Given the description of an element on the screen output the (x, y) to click on. 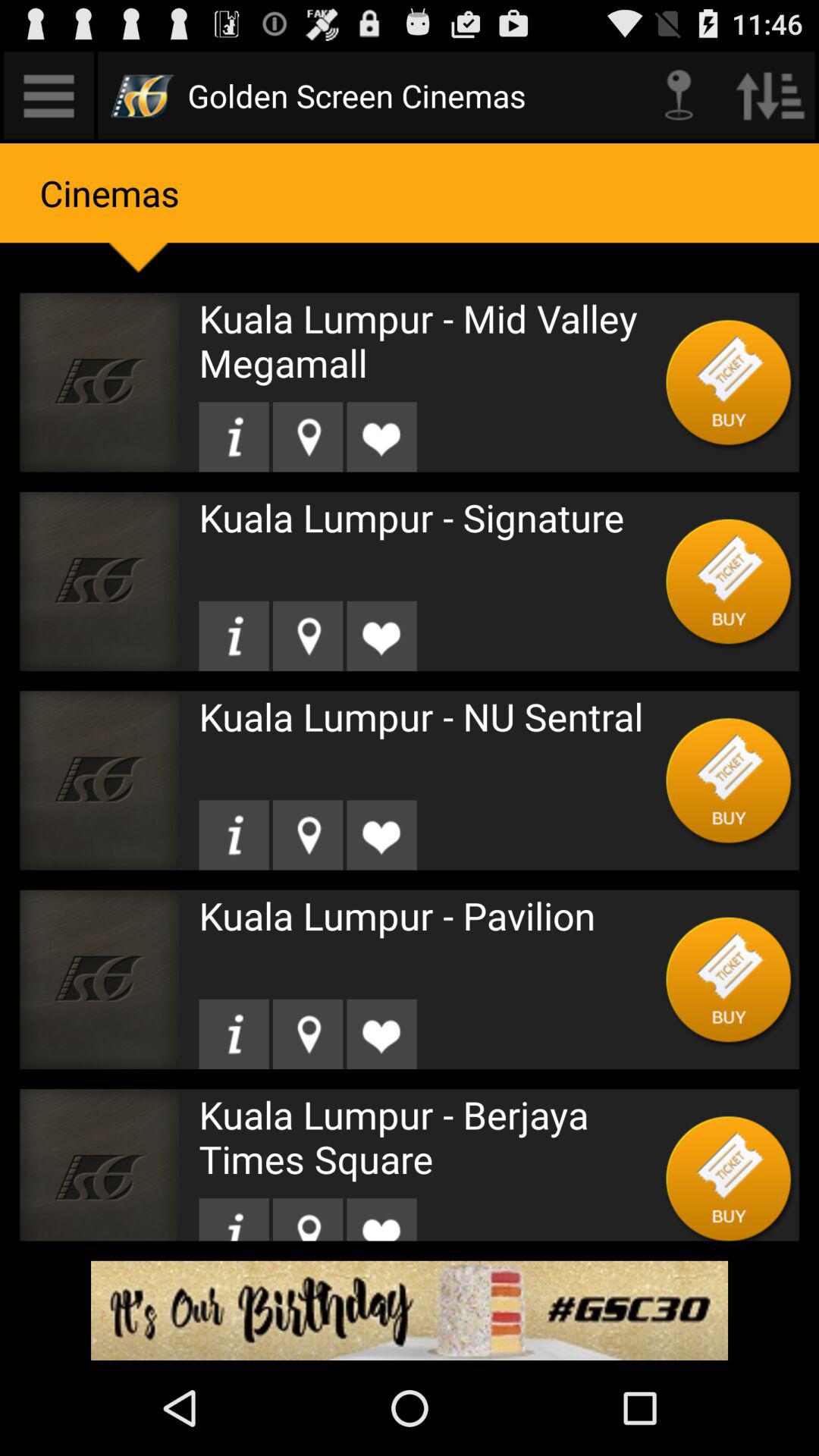
buy ticket (729, 979)
